Given the description of an element on the screen output the (x, y) to click on. 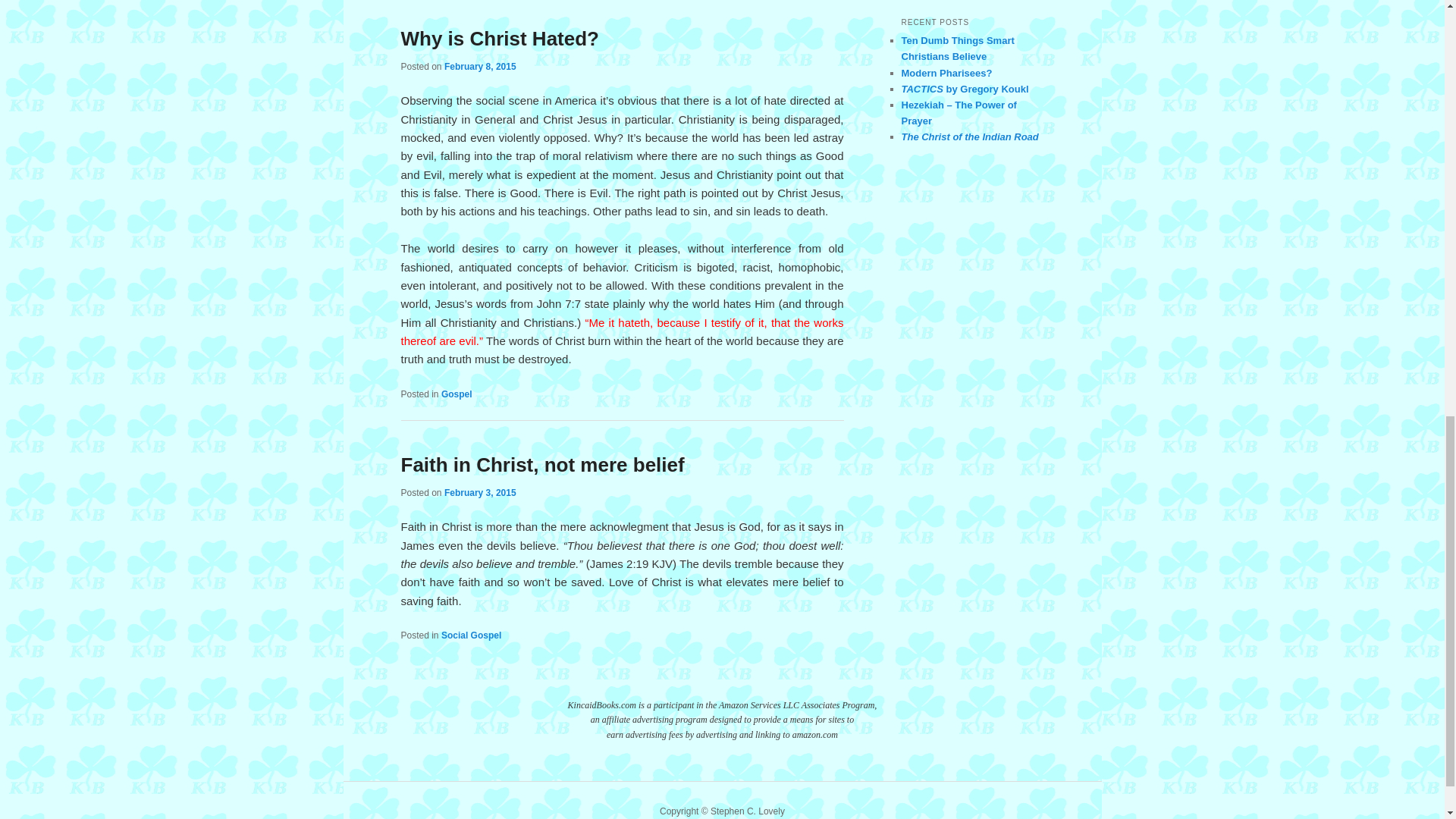
February 8, 2015 (480, 66)
Faith in Christ, not mere belief (542, 464)
15:05 (480, 66)
February 3, 2015 (480, 492)
21:26 (480, 492)
Social Gospel (470, 634)
Why is Christ Hated? (499, 38)
Gospel (456, 394)
